Given the description of an element on the screen output the (x, y) to click on. 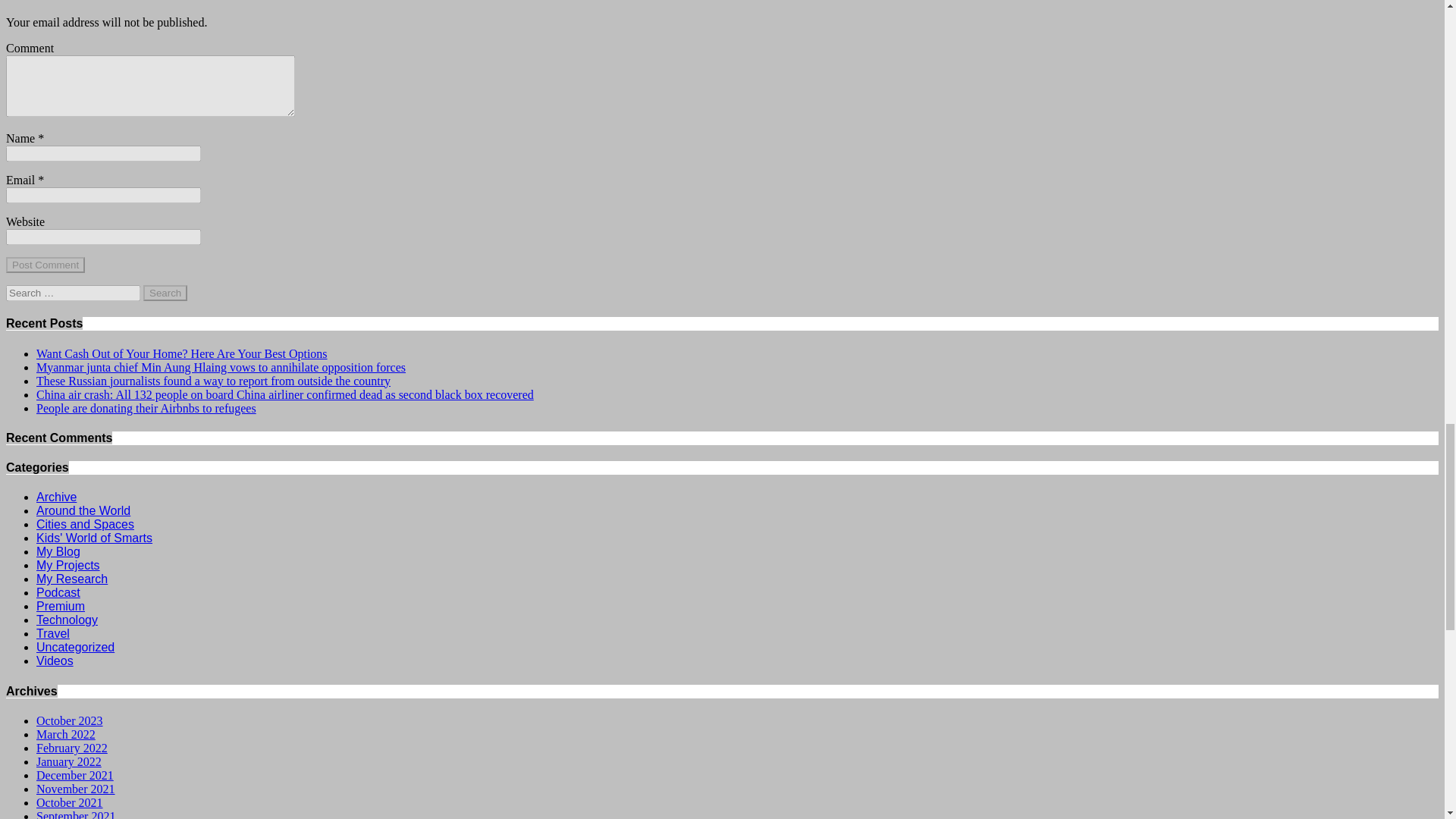
Search (164, 293)
Post Comment (44, 264)
Search (164, 293)
